Given the description of an element on the screen output the (x, y) to click on. 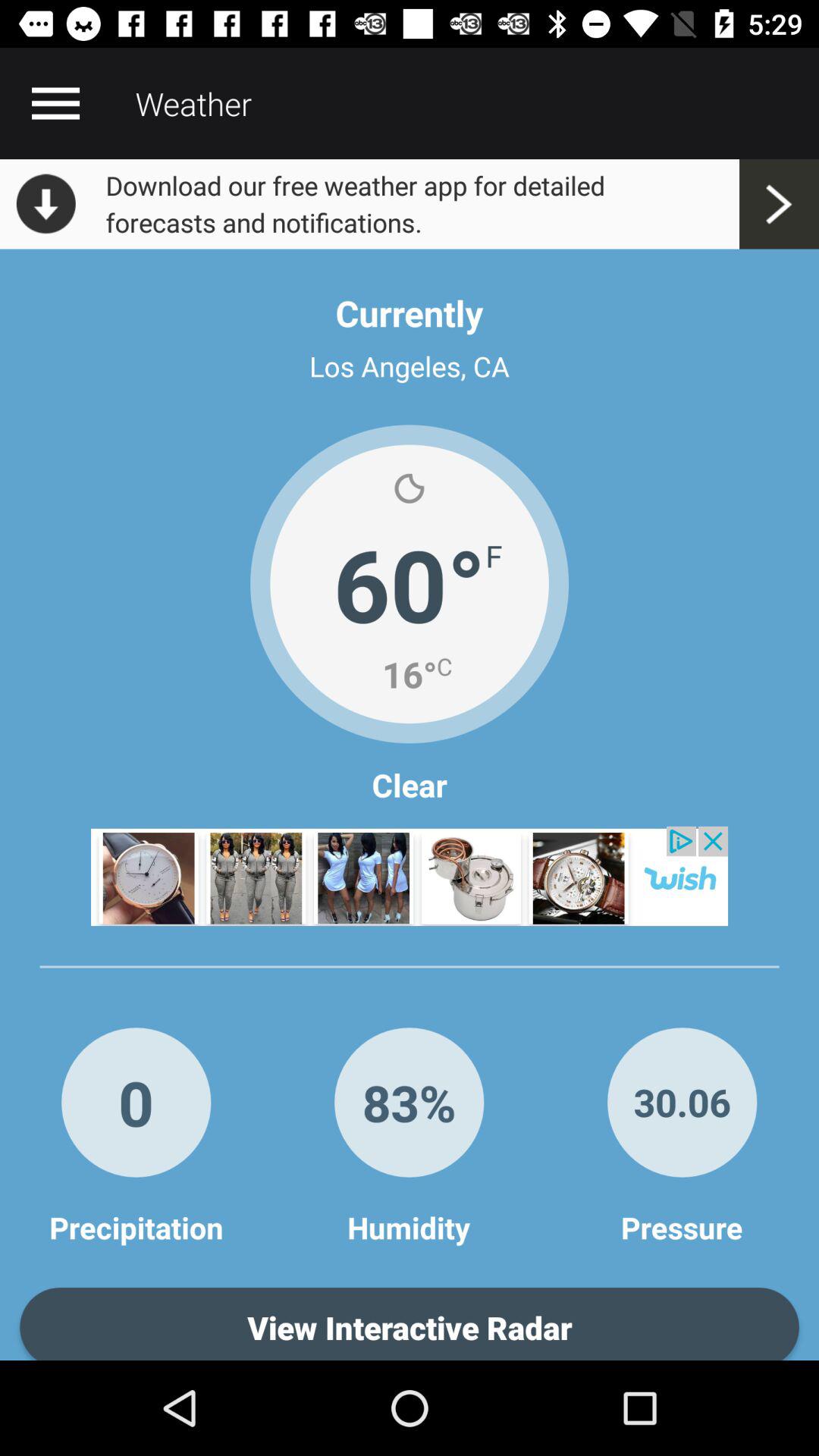
open the menu (55, 103)
